Given the description of an element on the screen output the (x, y) to click on. 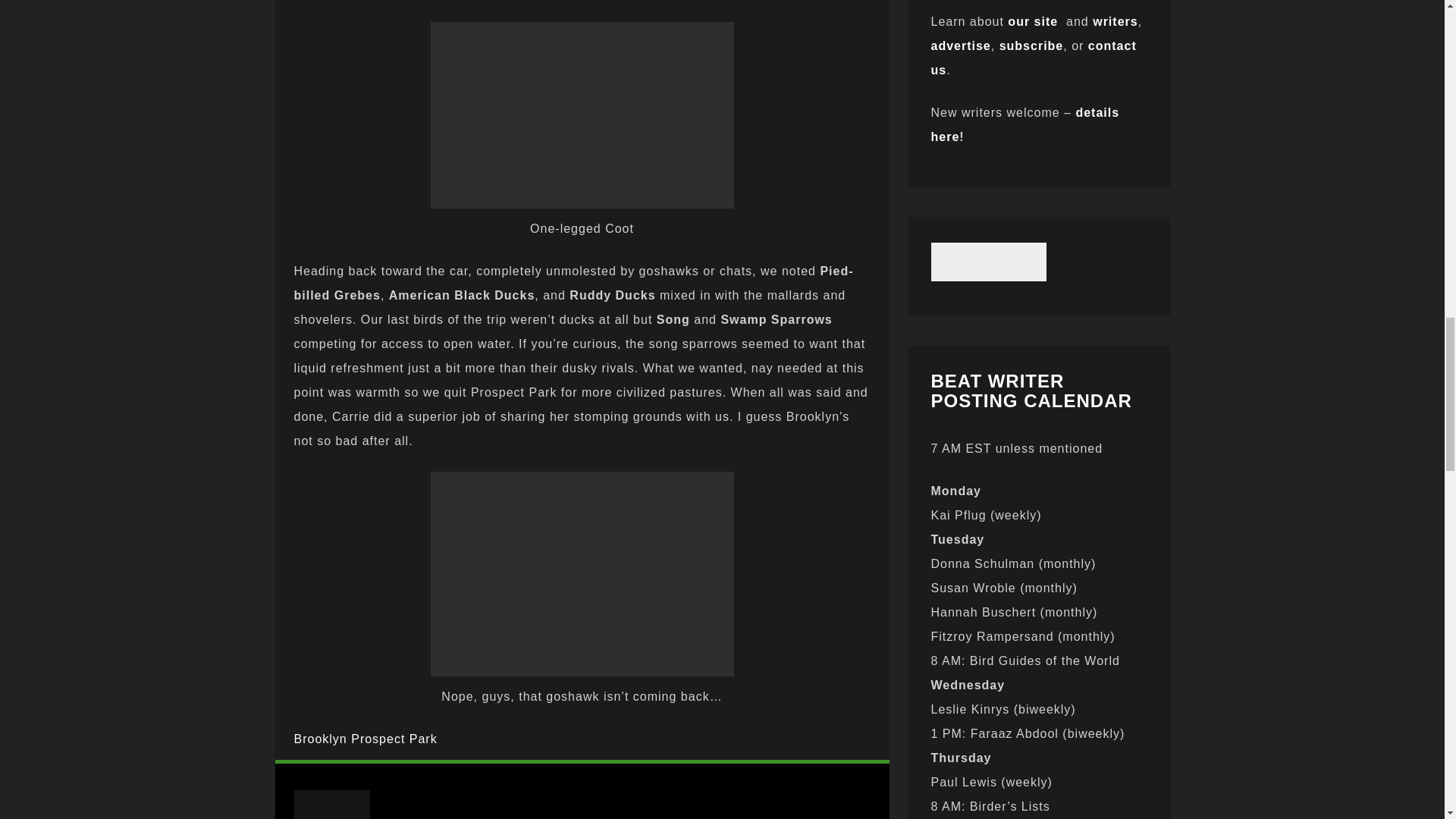
Contact (1034, 57)
About 10,000 Birds (1032, 21)
Brooklyn (320, 738)
About the 10,000 Birds Beat Writers (1115, 21)
Prospect Park (393, 738)
